Given the description of an element on the screen output the (x, y) to click on. 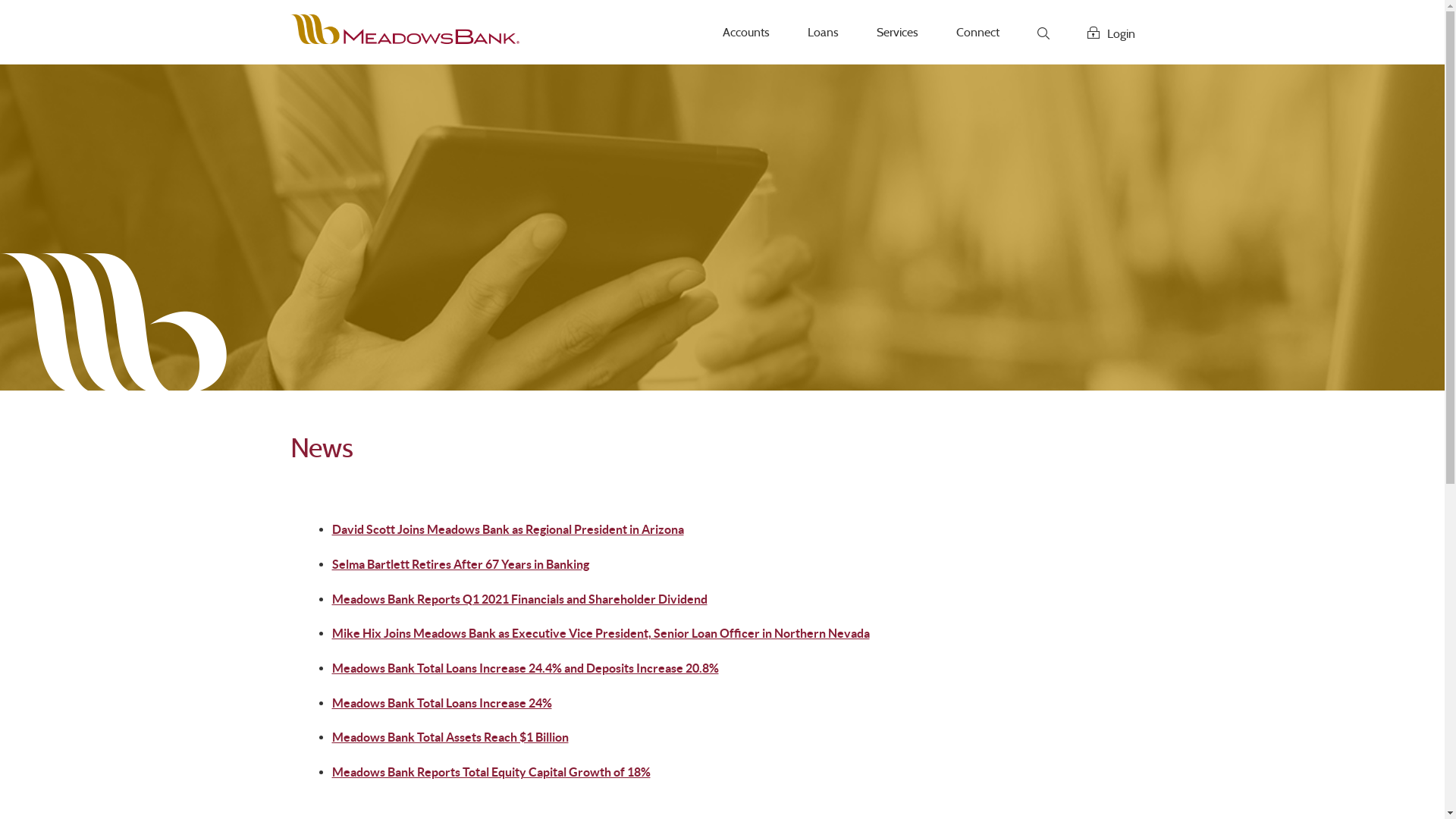
Meadows Bank, Las Vegas, NV Element type: hover (403, 28)
Toggle Search Element type: text (1043, 33)
Login Element type: text (1111, 32)
